Given the description of an element on the screen output the (x, y) to click on. 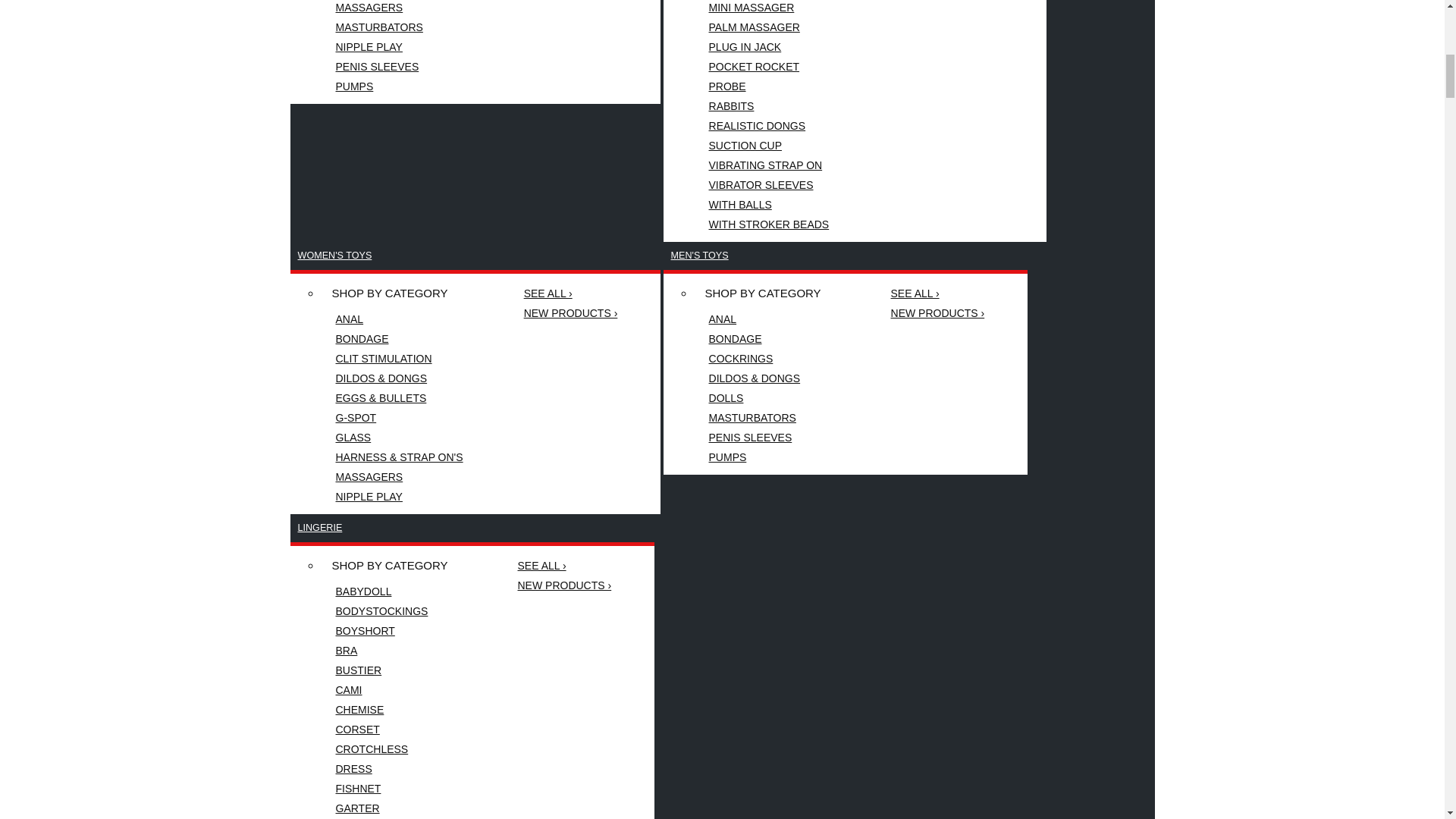
PENIS SLEEVES (398, 66)
PUMPS (398, 86)
MASTURBATORS (398, 26)
NIPPLE PLAY (398, 46)
MASSAGERS (398, 8)
